Given the description of an element on the screen output the (x, y) to click on. 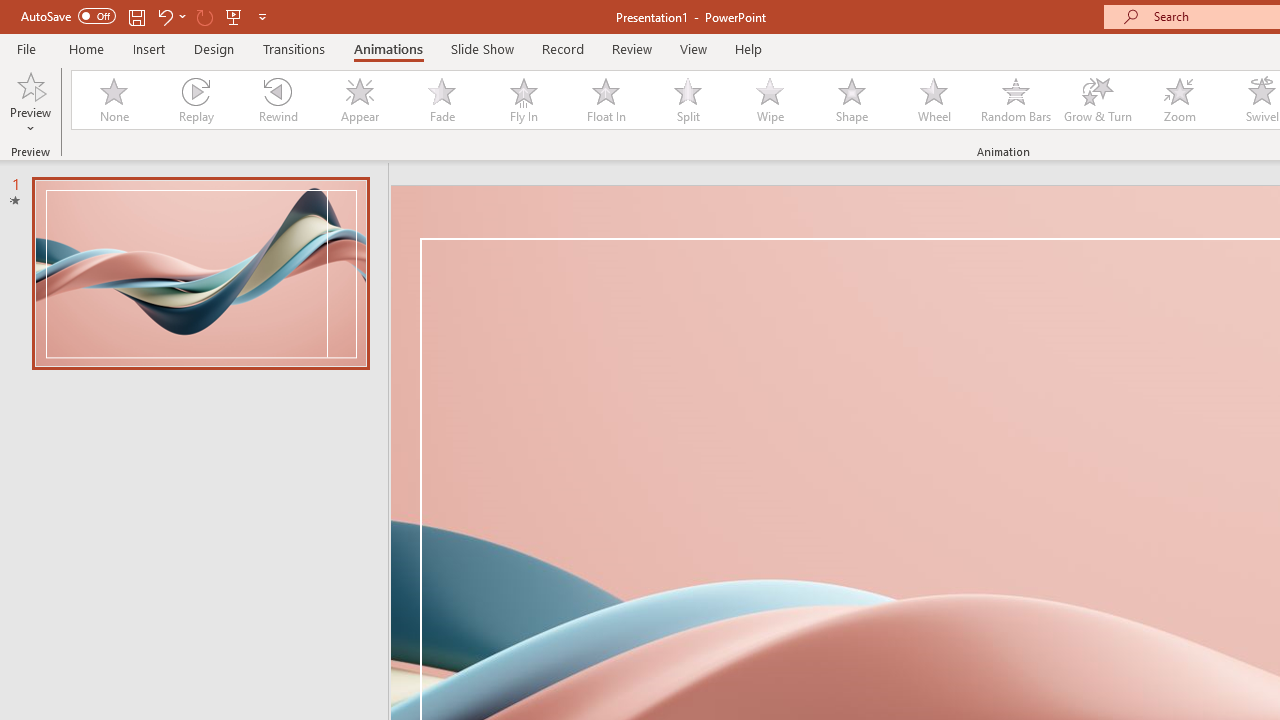
Appear (359, 100)
